Given the description of an element on the screen output the (x, y) to click on. 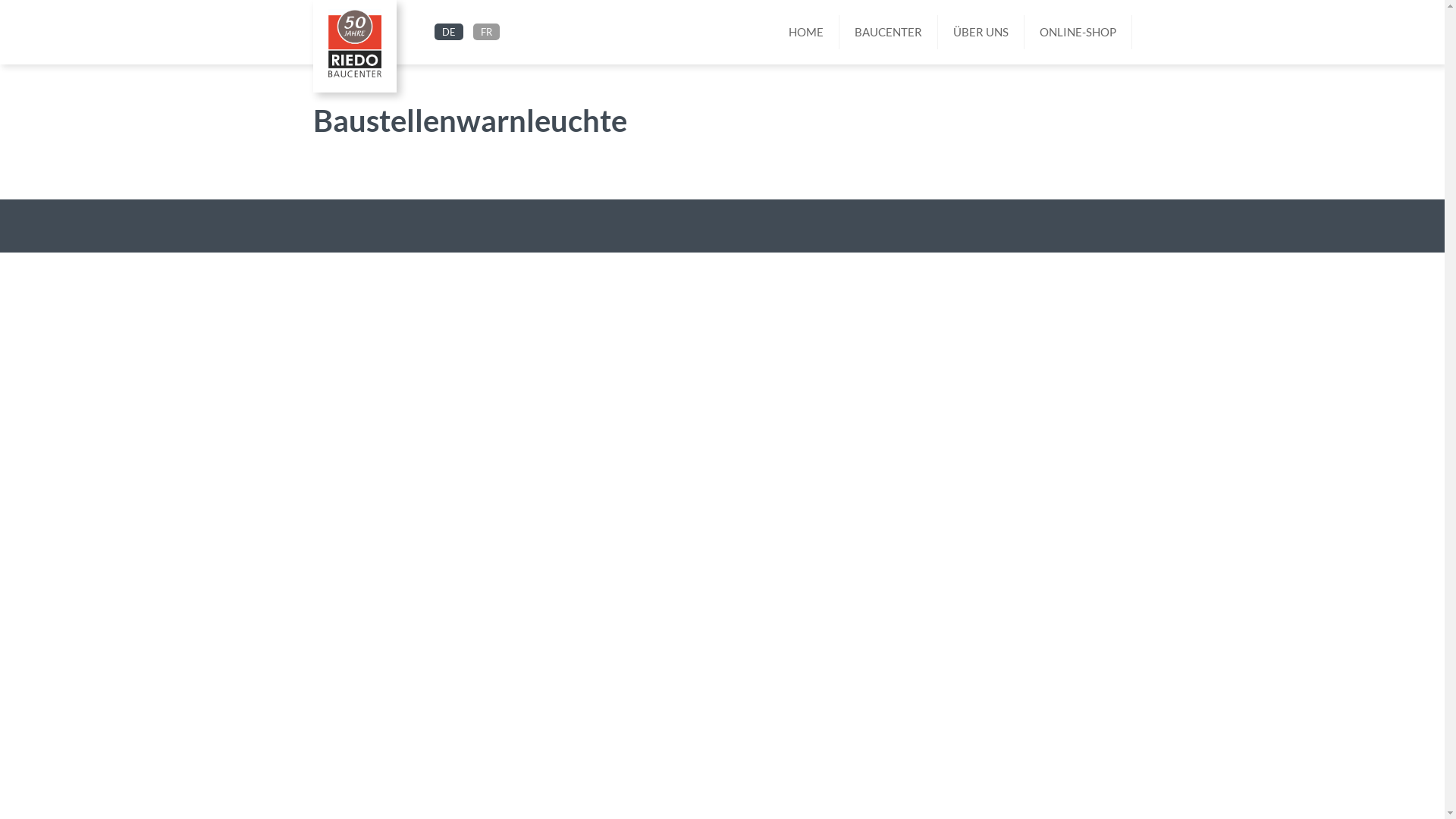
ONLINE-SHOP Element type: text (1077, 32)
HOME Element type: text (806, 32)
BAUCENTER Element type: text (887, 32)
FR Element type: text (486, 31)
DE Element type: text (447, 31)
